Given the description of an element on the screen output the (x, y) to click on. 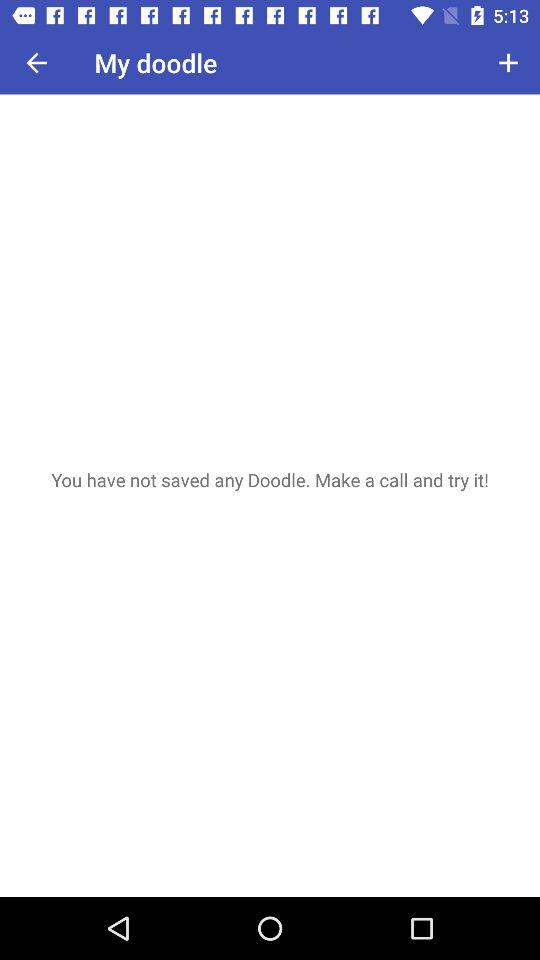
press the icon next to my doodle item (36, 62)
